Given the description of an element on the screen output the (x, y) to click on. 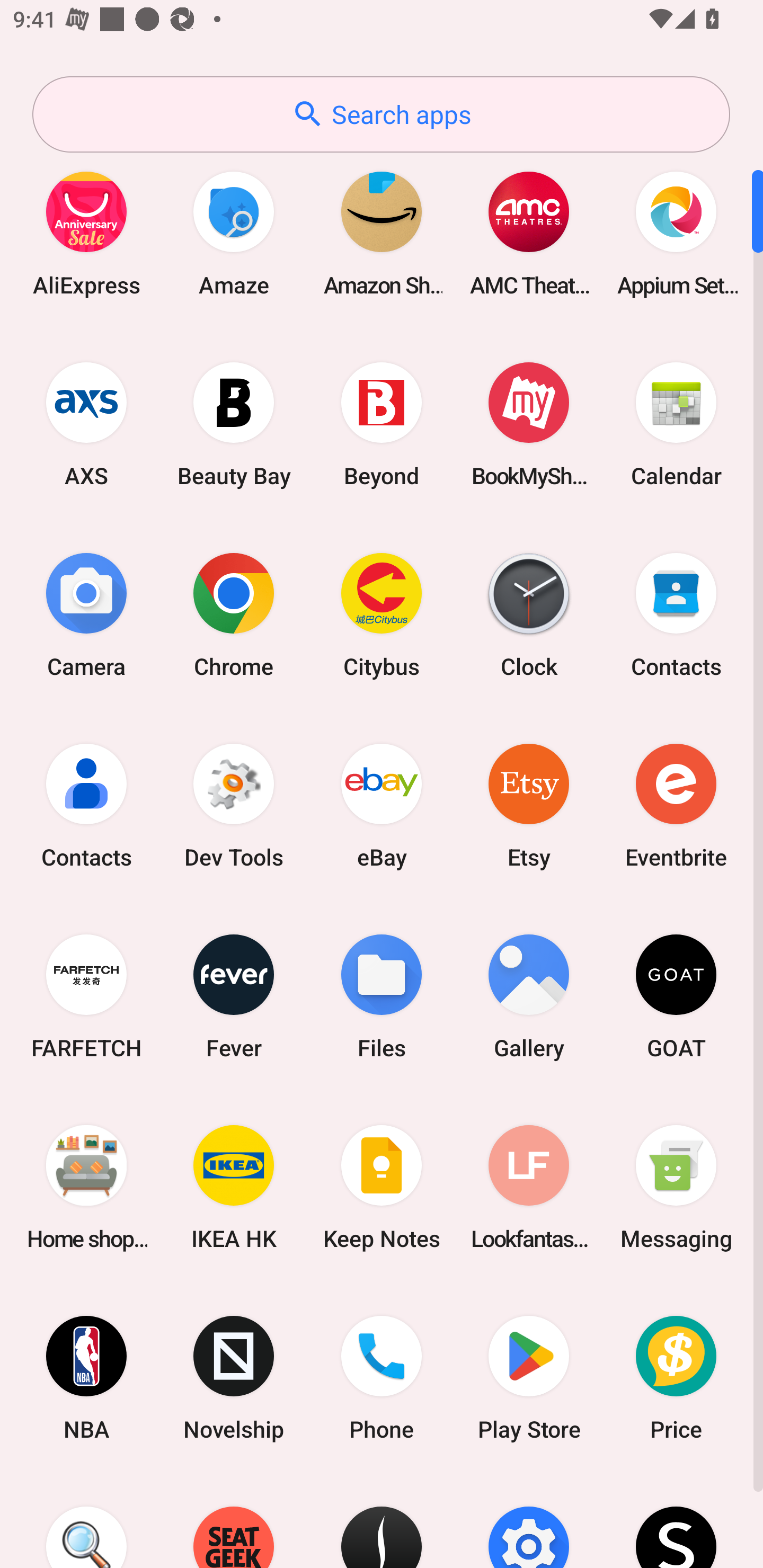
  Search apps (381, 114)
AliExpress (86, 233)
Amaze (233, 233)
Amazon Shopping (381, 233)
AMC Theatres (528, 233)
Appium Settings (676, 233)
AXS (86, 424)
Beauty Bay (233, 424)
Beyond (381, 424)
BookMyShow (528, 424)
Calendar (676, 424)
Camera (86, 614)
Chrome (233, 614)
Citybus (381, 614)
Clock (528, 614)
Contacts (676, 614)
Contacts (86, 805)
Dev Tools (233, 805)
eBay (381, 805)
Etsy (528, 805)
Eventbrite (676, 805)
FARFETCH (86, 996)
Fever (233, 996)
Files (381, 996)
Gallery (528, 996)
GOAT (676, 996)
Home shopping (86, 1186)
IKEA HK (233, 1186)
Keep Notes (381, 1186)
Lookfantastic (528, 1186)
Messaging (676, 1186)
NBA (86, 1377)
Novelship (233, 1377)
Phone (381, 1377)
Play Store (528, 1377)
Price (676, 1377)
